Given the description of an element on the screen output the (x, y) to click on. 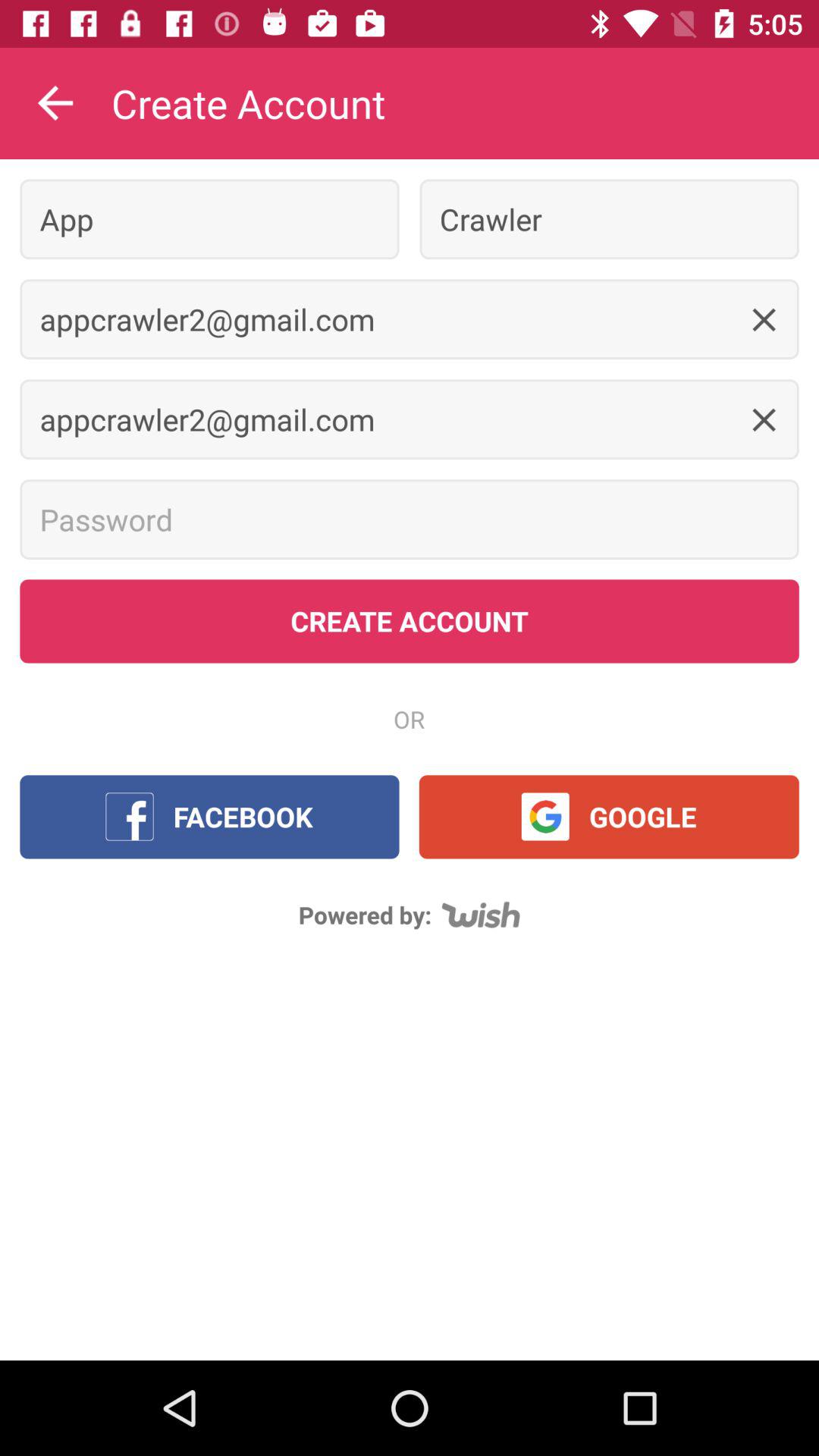
choose the icon above app icon (55, 103)
